Given the description of an element on the screen output the (x, y) to click on. 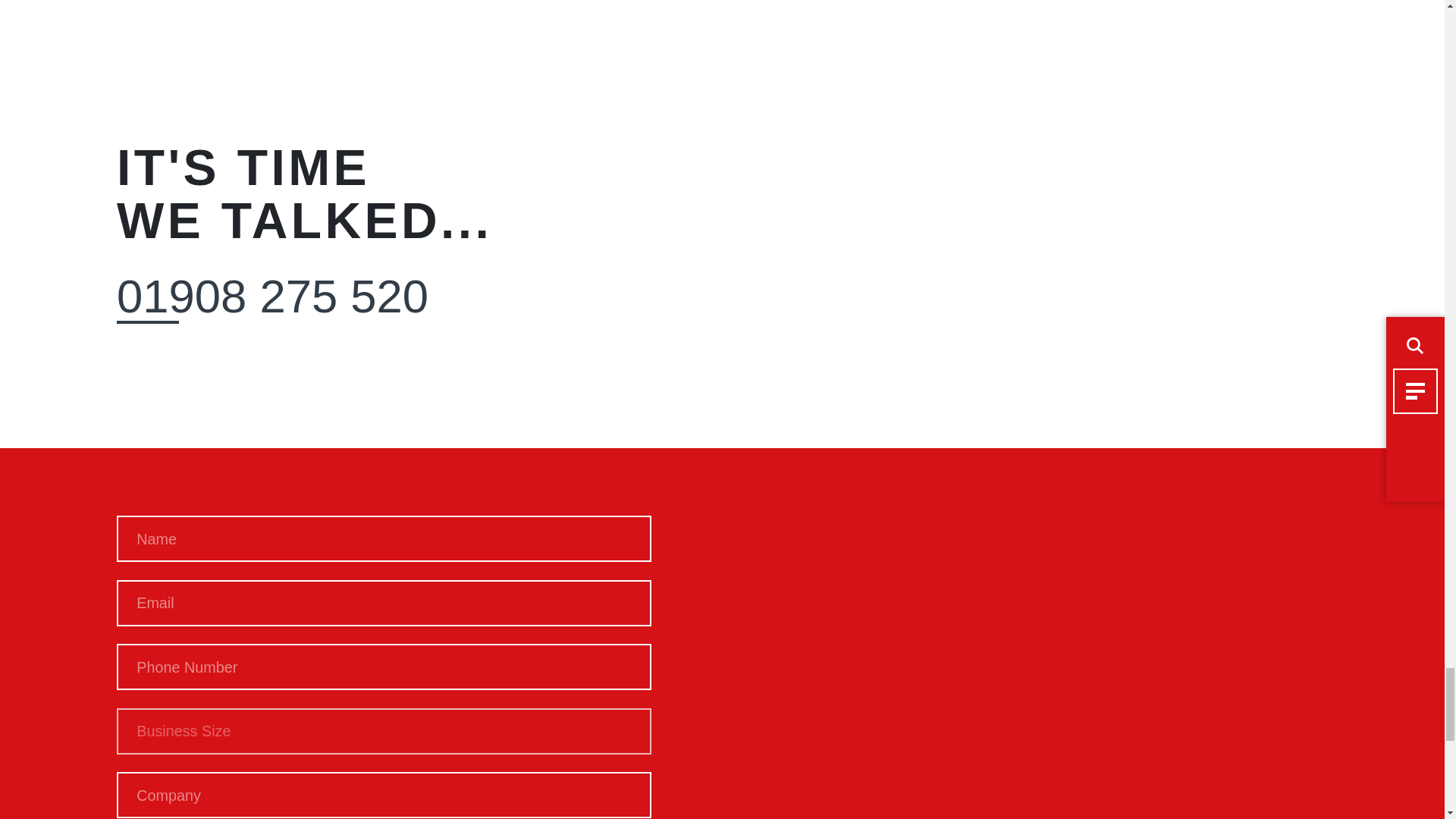
01908 275 520 (272, 296)
